Given the description of an element on the screen output the (x, y) to click on. 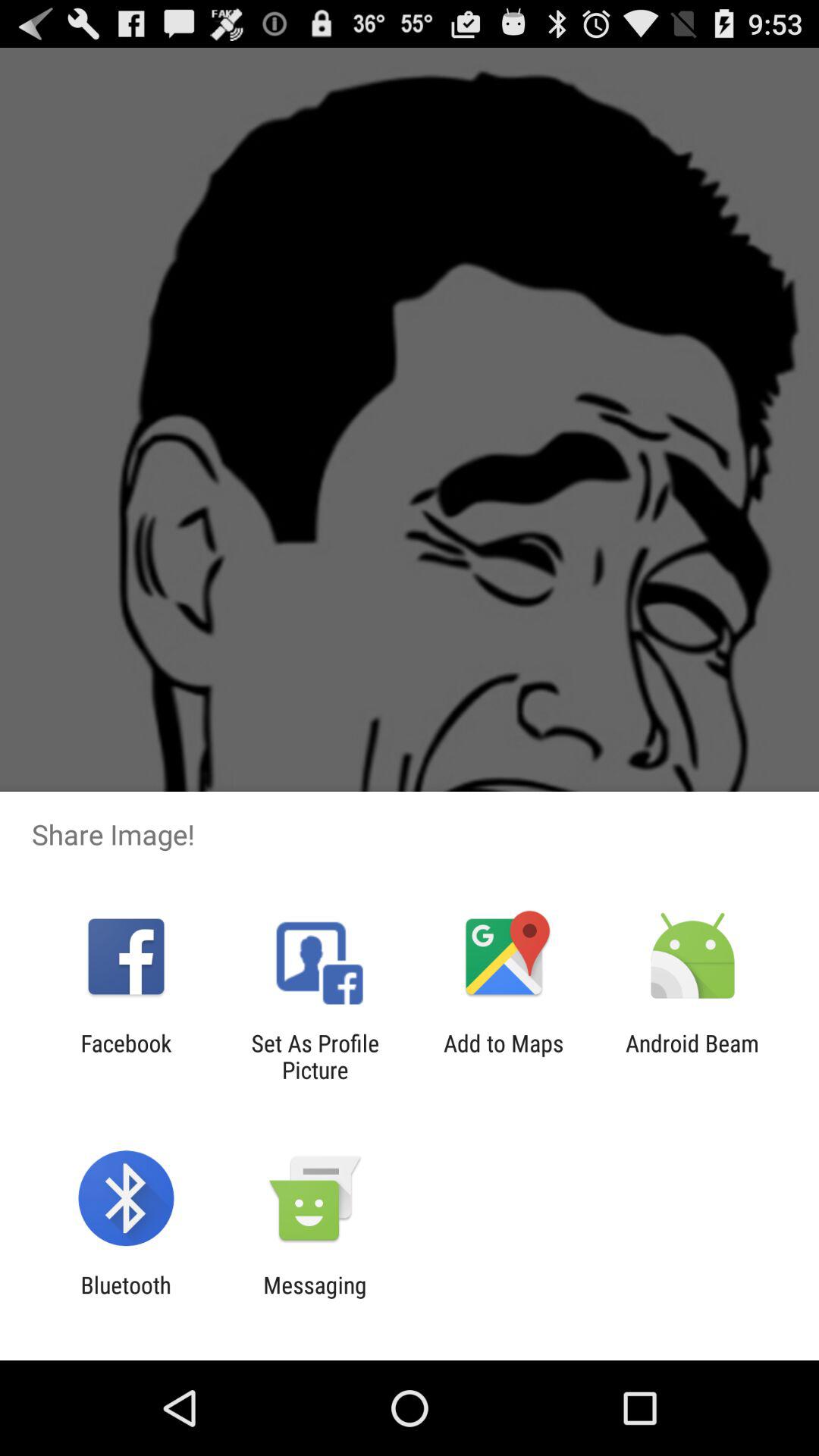
choose the icon to the left of the add to maps icon (314, 1056)
